Given the description of an element on the screen output the (x, y) to click on. 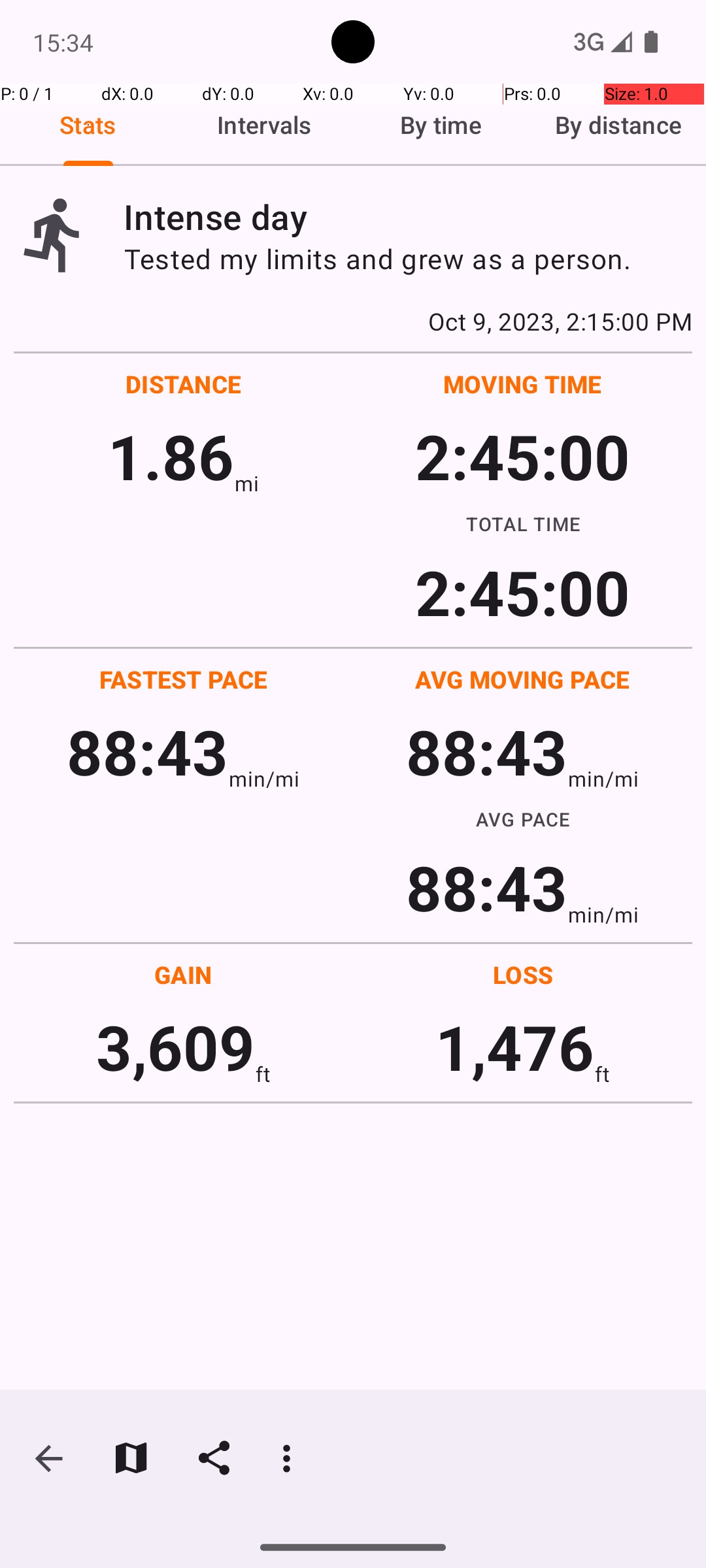
Intense day Element type: android.widget.TextView (407, 216)
Tested my limits and grew as a person. Element type: android.widget.TextView (407, 258)
Oct 9, 2023, 2:15:00 PM Element type: android.widget.TextView (352, 320)
1.86 Element type: android.widget.TextView (170, 455)
2:45:00 Element type: android.widget.TextView (522, 455)
88:43 Element type: android.widget.TextView (147, 750)
3,609 Element type: android.widget.TextView (175, 1045)
1,476 Element type: android.widget.TextView (514, 1045)
